Given the description of an element on the screen output the (x, y) to click on. 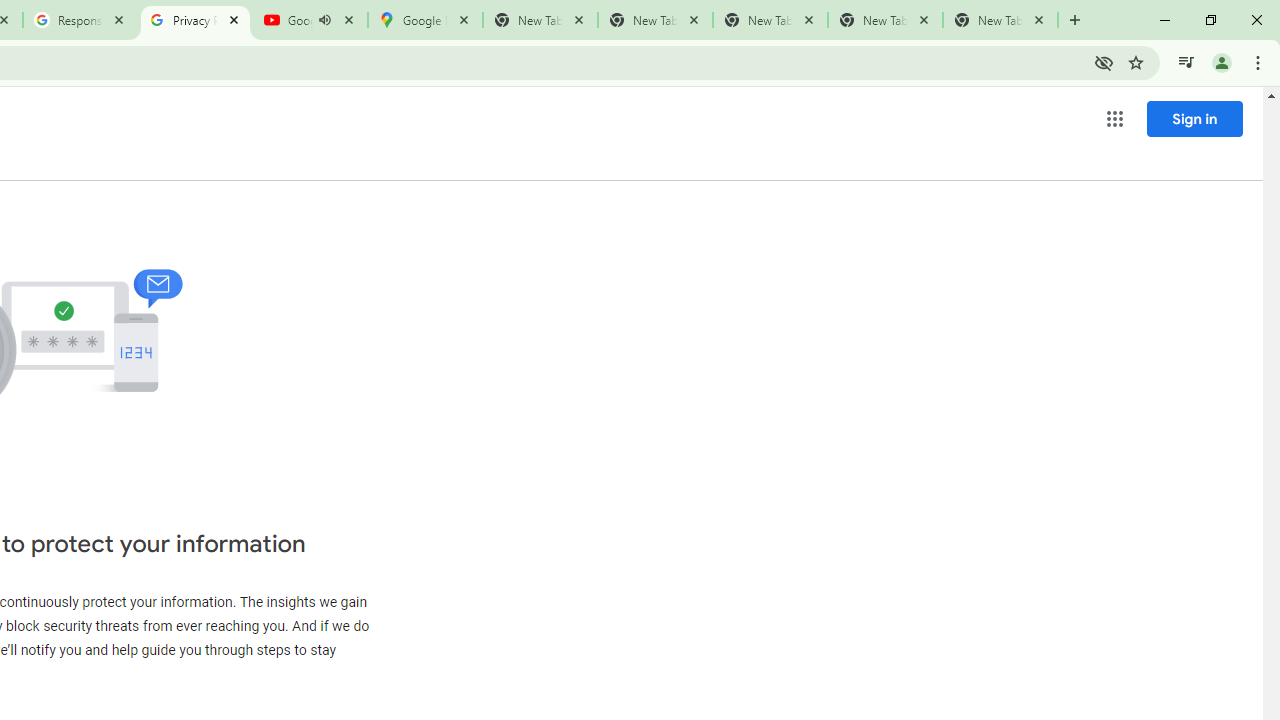
New Tab (1000, 20)
Google Maps (424, 20)
